Given the description of an element on the screen output the (x, y) to click on. 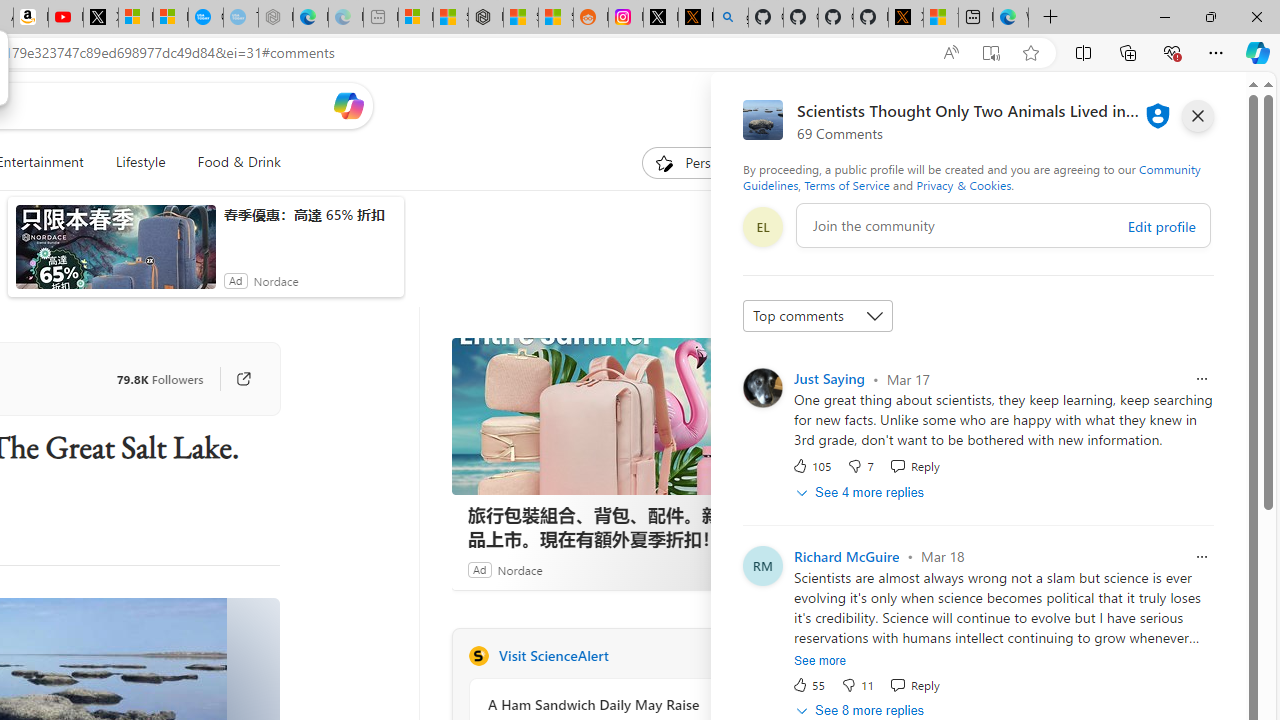
Food & Drink (239, 162)
Visit ScienceAlert website (726, 655)
Open Copilot (347, 105)
To get missing image descriptions, open the context menu. (664, 162)
Profile Picture (762, 387)
X (100, 17)
